Given the description of an element on the screen output the (x, y) to click on. 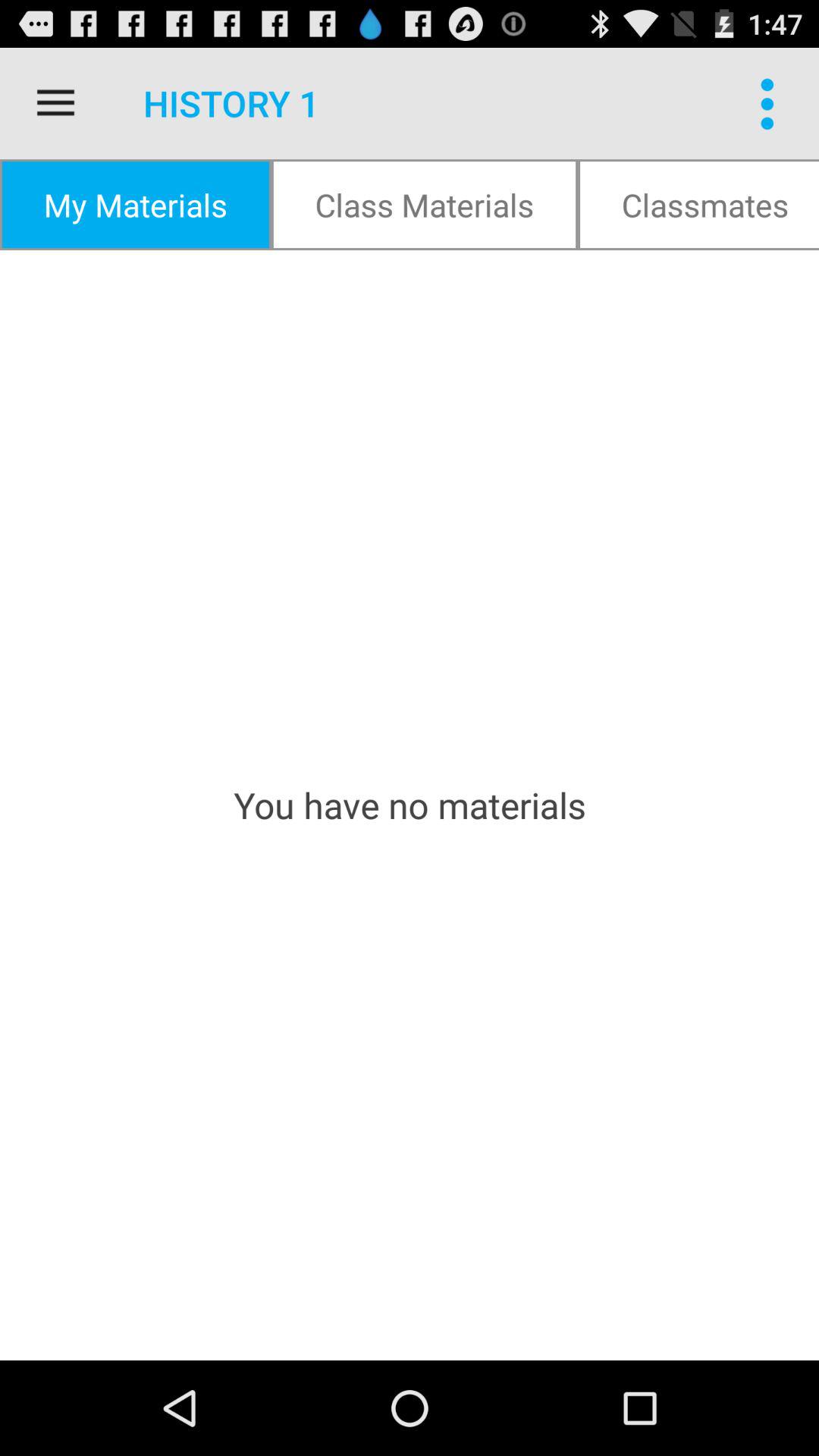
open item above my materials item (55, 103)
